Given the description of an element on the screen output the (x, y) to click on. 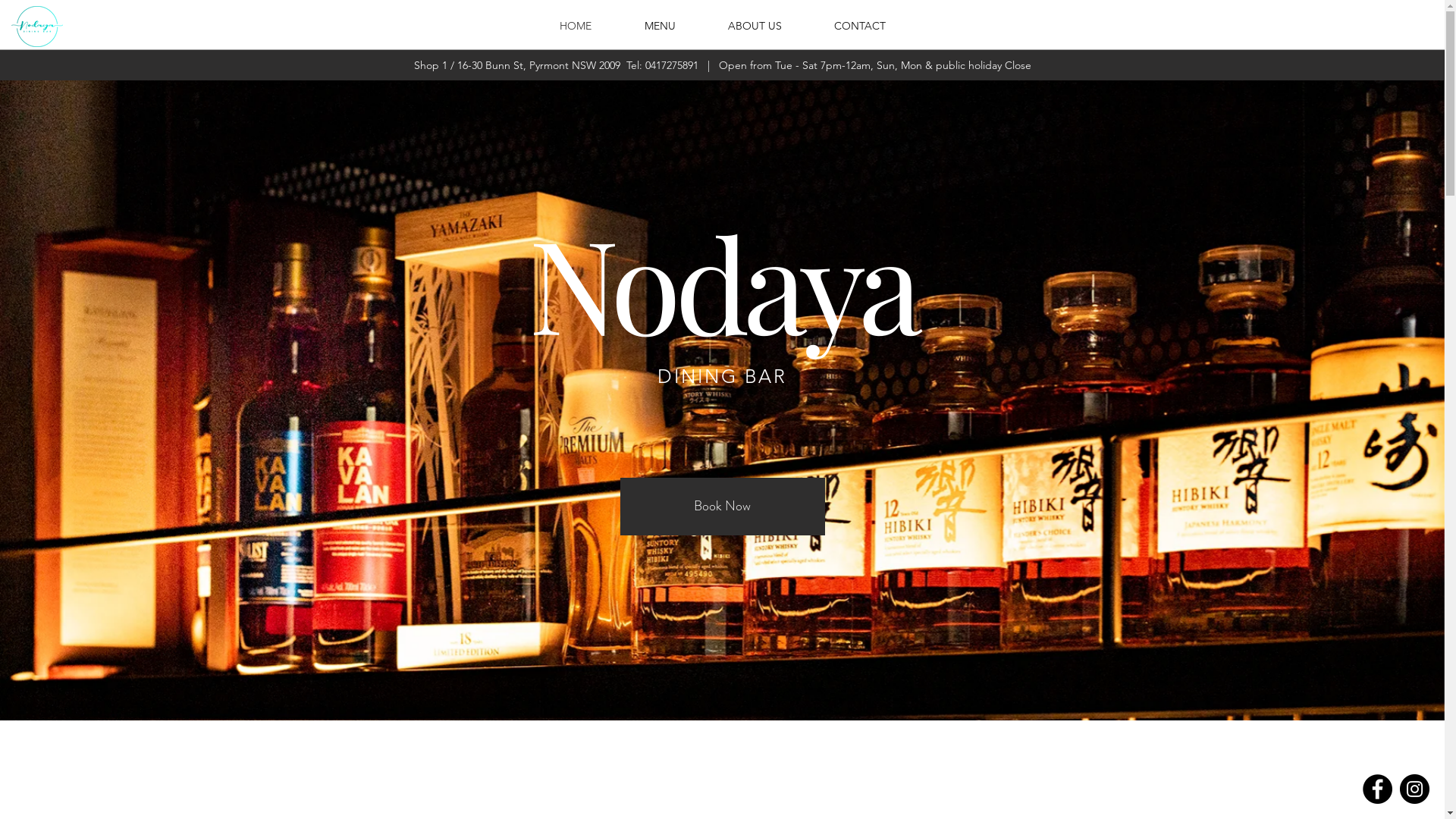
Book Now Element type: text (722, 506)
ABOUT US Element type: text (755, 24)
CONTACT Element type: text (860, 24)
MENU Element type: text (659, 24)
HOME Element type: text (574, 24)
